Given the description of an element on the screen output the (x, y) to click on. 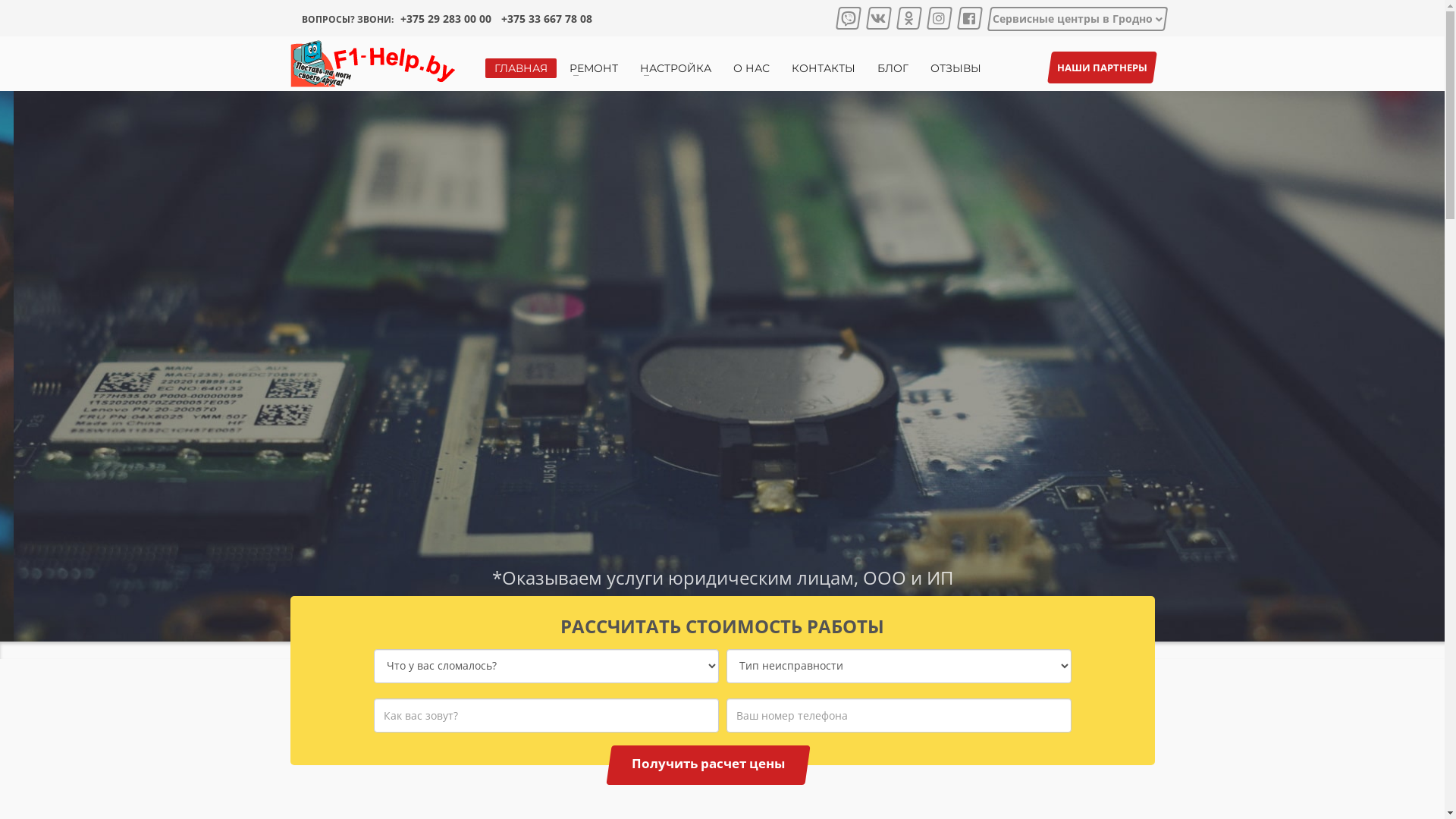
+375 33 667 78 08 Element type: text (547, 18)
+375 29 283 00 00 Element type: text (447, 18)
